Given the description of an element on the screen output the (x, y) to click on. 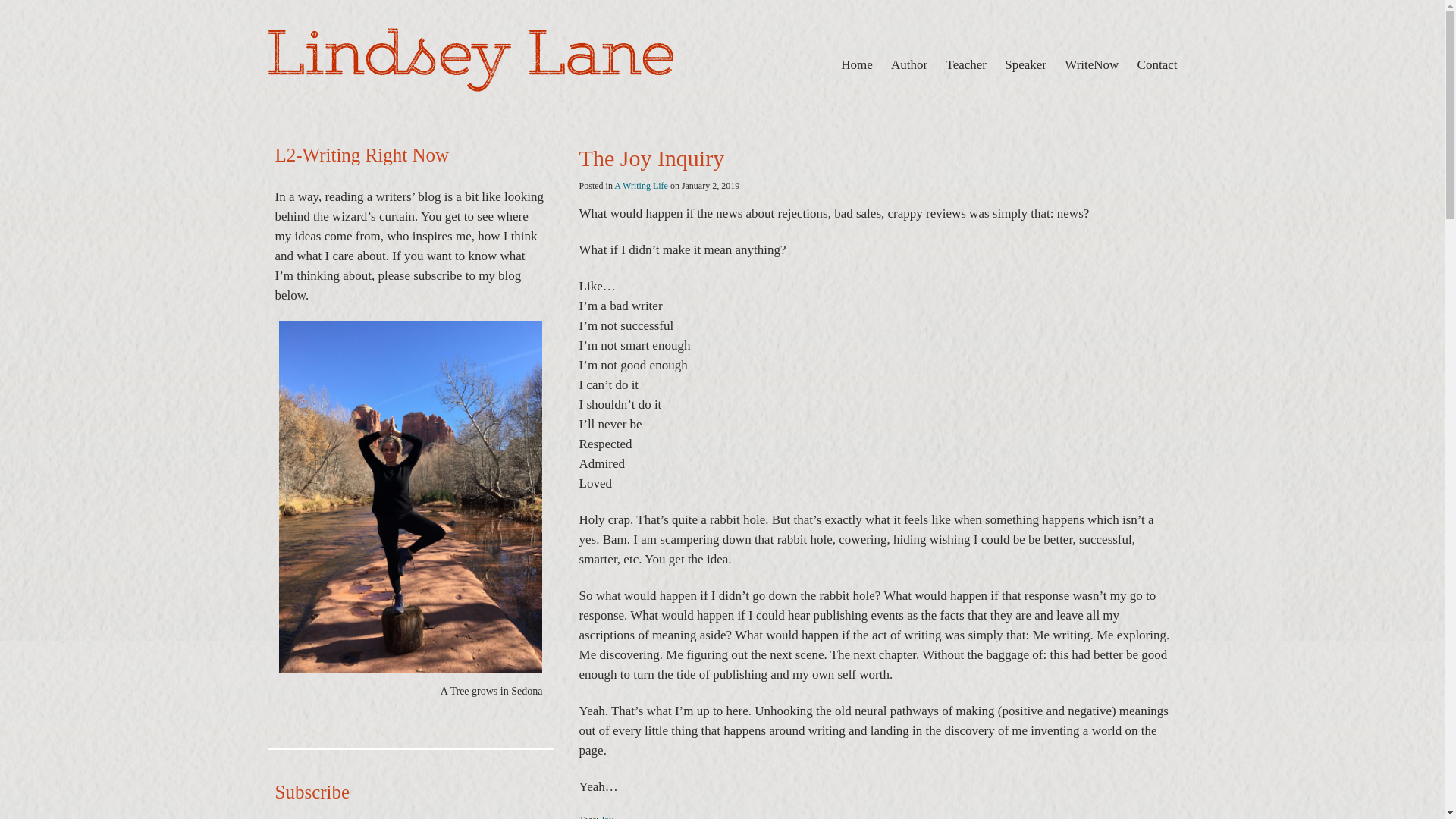
Speaker (1025, 64)
Teacher (965, 64)
Author (908, 64)
Home (860, 64)
Joy (605, 816)
WriteNow (1091, 64)
A Writing Life (641, 185)
Contact (1153, 64)
